Given the description of an element on the screen output the (x, y) to click on. 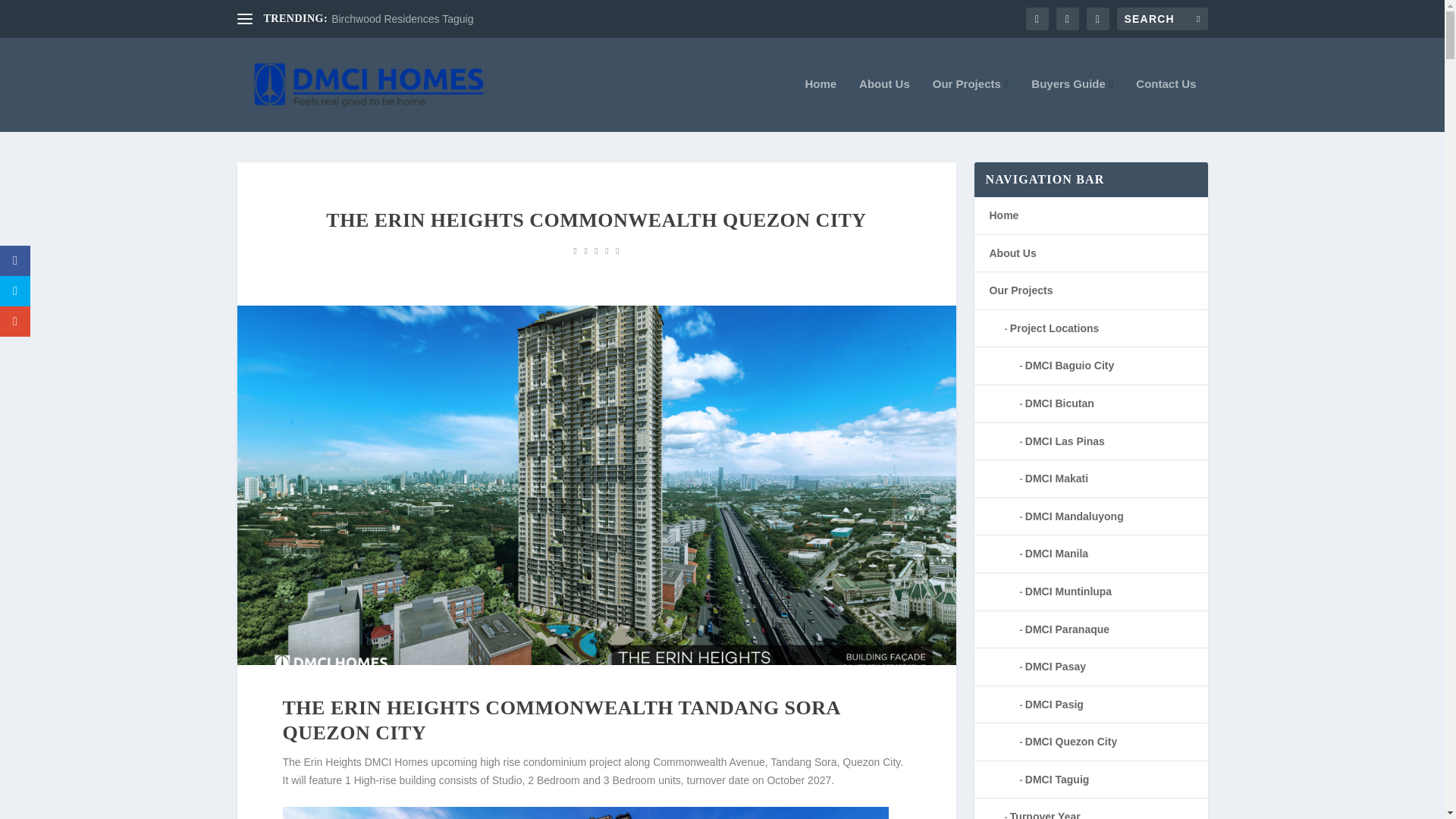
Rating: 0.00 (596, 250)
Buyers Guide (1071, 104)
About Us (884, 104)
Birchwood Residences Taguig (402, 19)
Search for: (1161, 18)
Our Projects (971, 104)
